Given the description of an element on the screen output the (x, y) to click on. 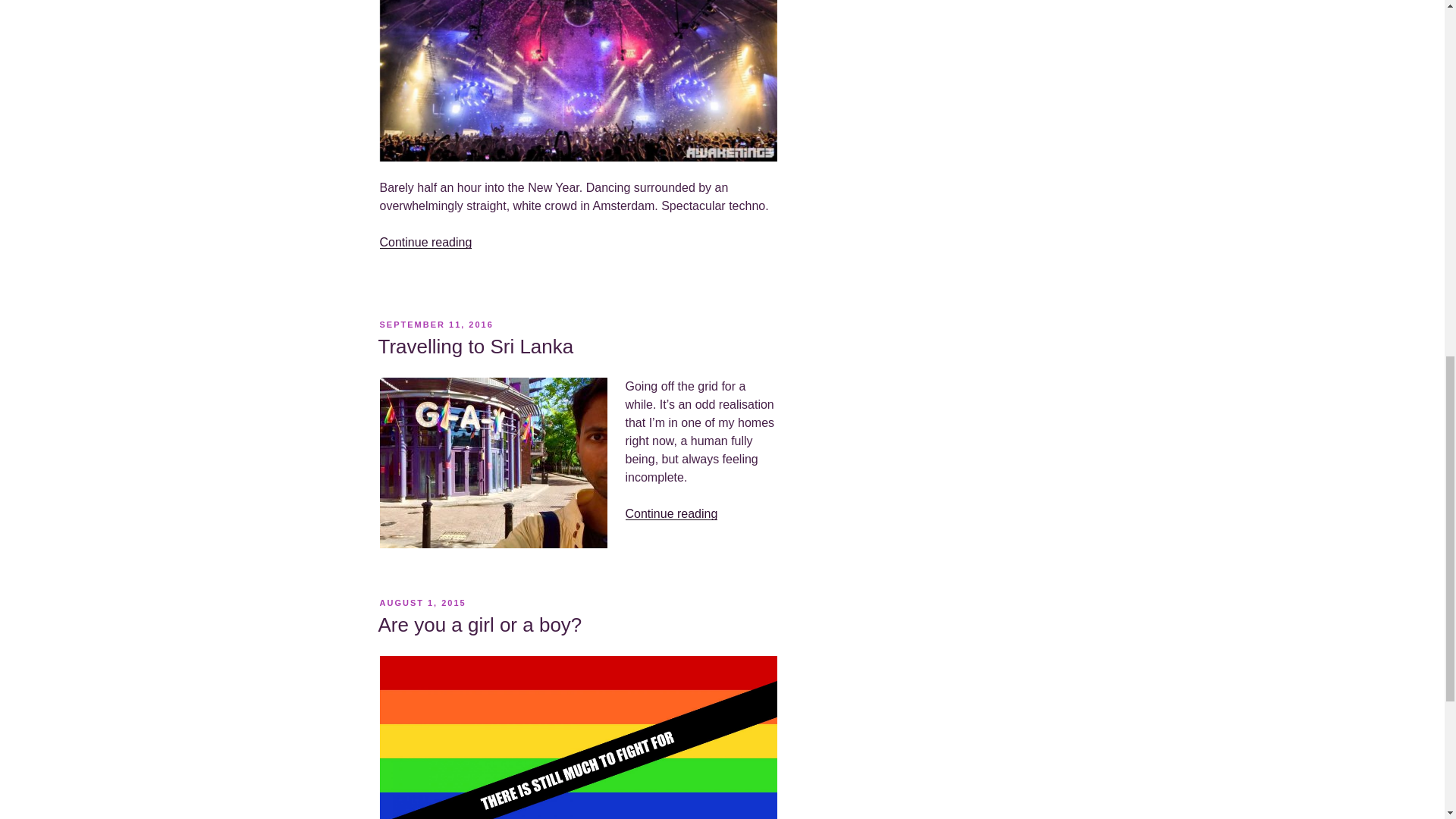
AUGUST 1, 2015 (421, 602)
Are you a girl or a boy? (478, 624)
Travelling to Sri Lanka (475, 345)
SEPTEMBER 11, 2016 (435, 324)
